Given the description of an element on the screen output the (x, y) to click on. 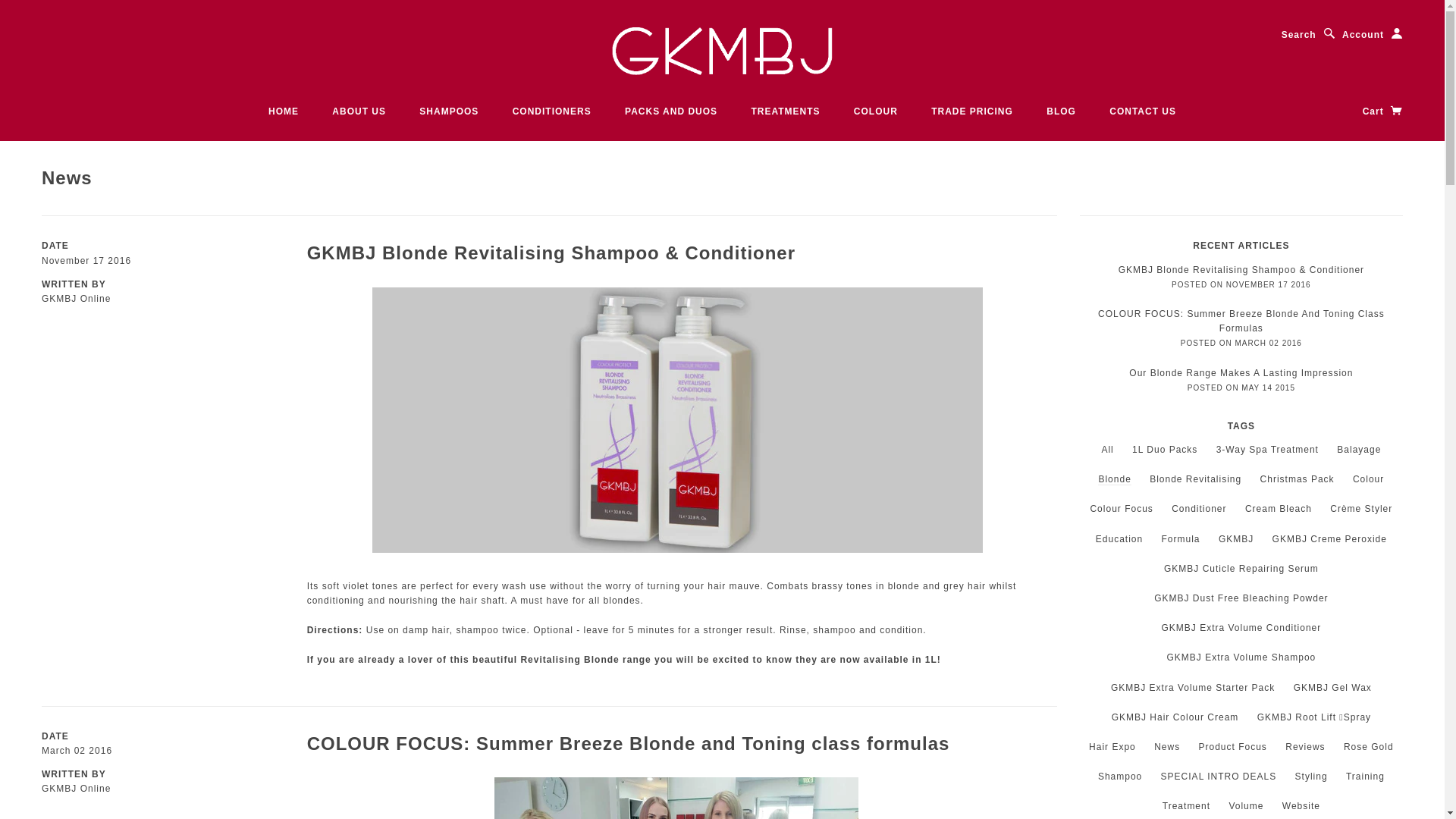
Christmas Pack Element type: text (1297, 478)
GKMBJ Haircare Element type: hover (722, 50)
Shampoo Element type: text (1120, 776)
Our Blonde Range Makes A Lasting Impression Element type: text (1240, 372)
GKMBJ Blonde Revitalising Shampoo & Conditioner Element type: text (1241, 269)
GKMBJ Blonde Revitalising Shampoo & Conditioner Element type: text (551, 252)
All Element type: text (1107, 449)
ABOUT US Element type: text (358, 111)
Blonde Revitalising Element type: text (1195, 478)
SPECIAL INTRO DEALS Element type: text (1219, 776)
Cart Element type: text (1382, 111)
Education Element type: text (1118, 538)
PACKS AND DUOS Element type: text (670, 111)
TRADE PRICING Element type: text (972, 111)
GKMBJ Extra Volume Starter Pack Element type: text (1192, 687)
Search Element type: text (1308, 35)
COLOUR FOCUS: Summer Breeze Blonde And Toning Class Formulas Element type: text (1241, 320)
BLOG Element type: text (1061, 111)
HOME Element type: text (283, 111)
GKMBJ Gel Wax Element type: text (1332, 687)
Rose Gold Element type: text (1368, 746)
GKMBJ Extra Volume Conditioner Element type: text (1241, 627)
Account Element type: text (1372, 35)
TREATMENTS Element type: text (784, 111)
GKMBJ Cuticle Repairing Serum Element type: text (1241, 568)
GKMBJ Hair Colour Cream Element type: text (1175, 717)
Product Focus Element type: text (1232, 746)
SHAMPOOS Element type: text (448, 111)
Training Element type: text (1365, 776)
GKMBJ Dust Free Bleaching Powder Element type: text (1240, 598)
Styling Element type: text (1311, 776)
CONDITIONERS Element type: text (551, 111)
Volume Element type: text (1245, 805)
COLOUR Element type: text (875, 111)
GKMBJ Root Lift Spray Element type: text (1314, 717)
GKMBJ Creme Peroxide Element type: text (1329, 538)
Colour Element type: text (1367, 478)
Blonde Element type: text (1114, 479)
GKMBJ Extra Volume Shampoo Element type: text (1240, 657)
Formula Element type: text (1180, 538)
1L Duo Packs Element type: text (1164, 449)
Conditioner Element type: text (1198, 508)
Reviews Element type: text (1304, 746)
Colour Focus Element type: text (1120, 508)
Cream Bleach Element type: text (1278, 508)
Hair Expo Element type: text (1111, 746)
Treatment Element type: text (1186, 805)
Balayage Element type: text (1358, 449)
3-Way Spa Treatment Element type: text (1267, 449)
Website Element type: text (1301, 805)
CONTACT US Element type: text (1142, 111)
News Element type: text (1166, 746)
GKMBJ Element type: text (1235, 538)
COLOUR FOCUS: Summer Breeze Blonde and Toning class formulas Element type: text (628, 743)
